Given the description of an element on the screen output the (x, y) to click on. 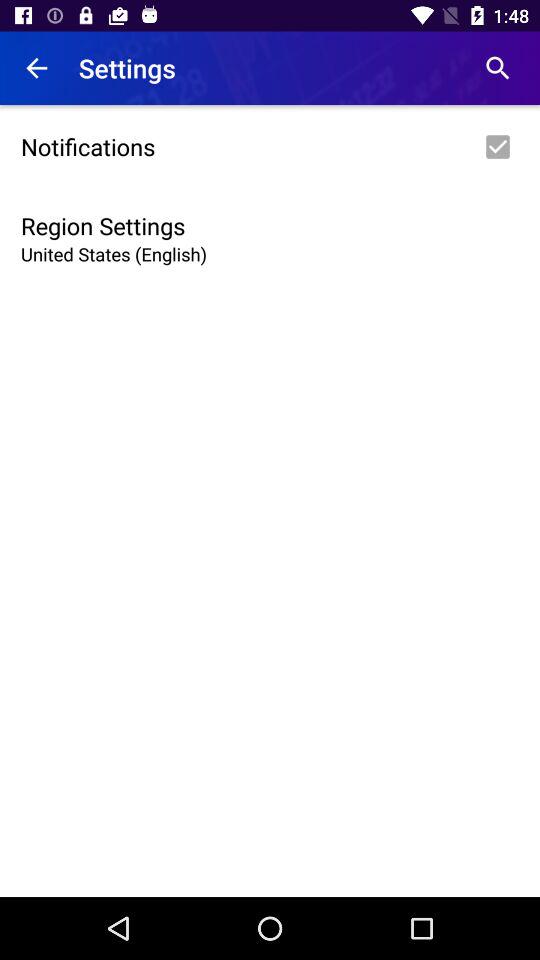
turn off item above region settings item (270, 147)
